Given the description of an element on the screen output the (x, y) to click on. 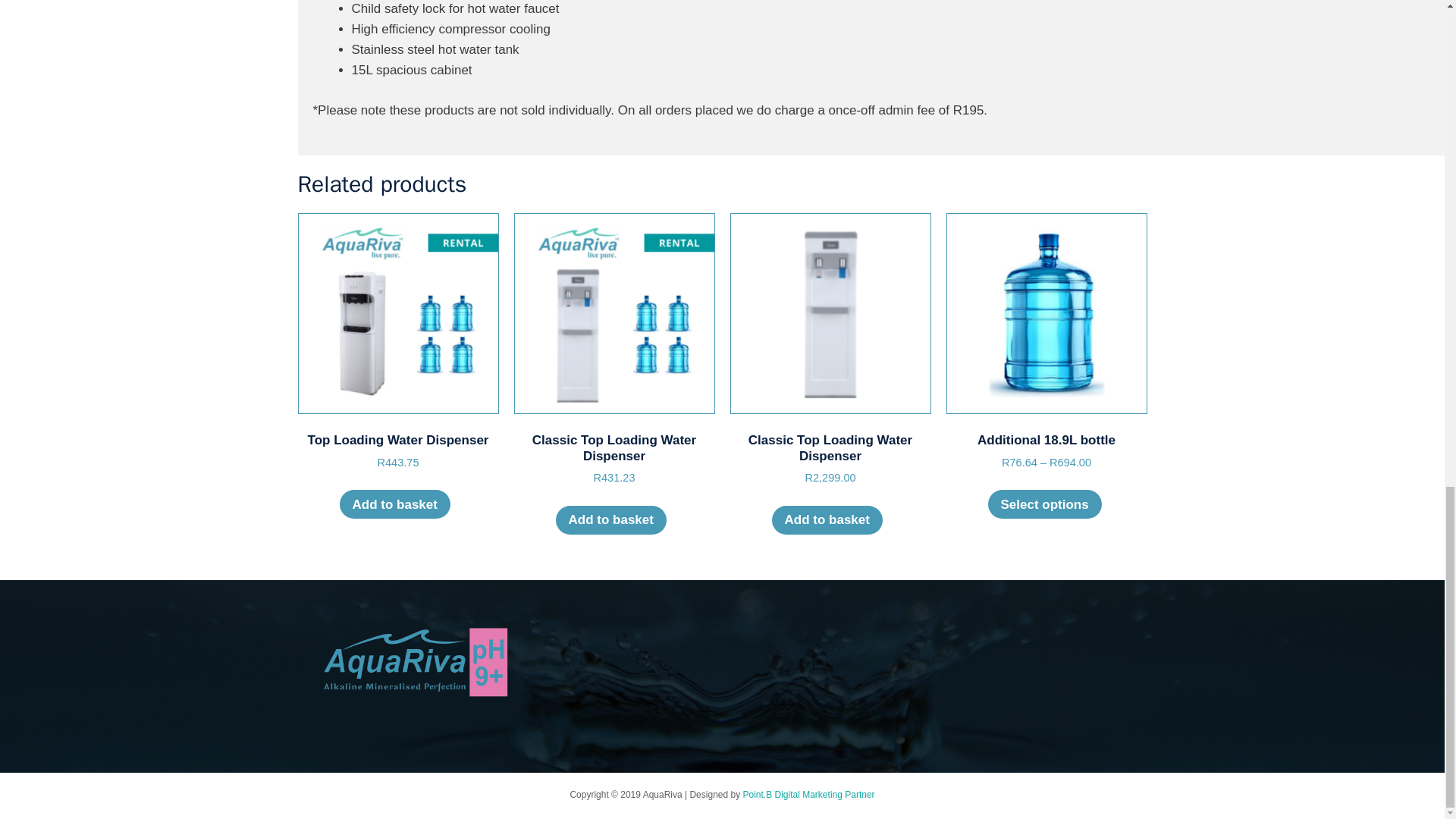
Add to basket (826, 520)
Add to basket (394, 503)
Add to basket (397, 341)
Select options (609, 520)
